Given the description of an element on the screen output the (x, y) to click on. 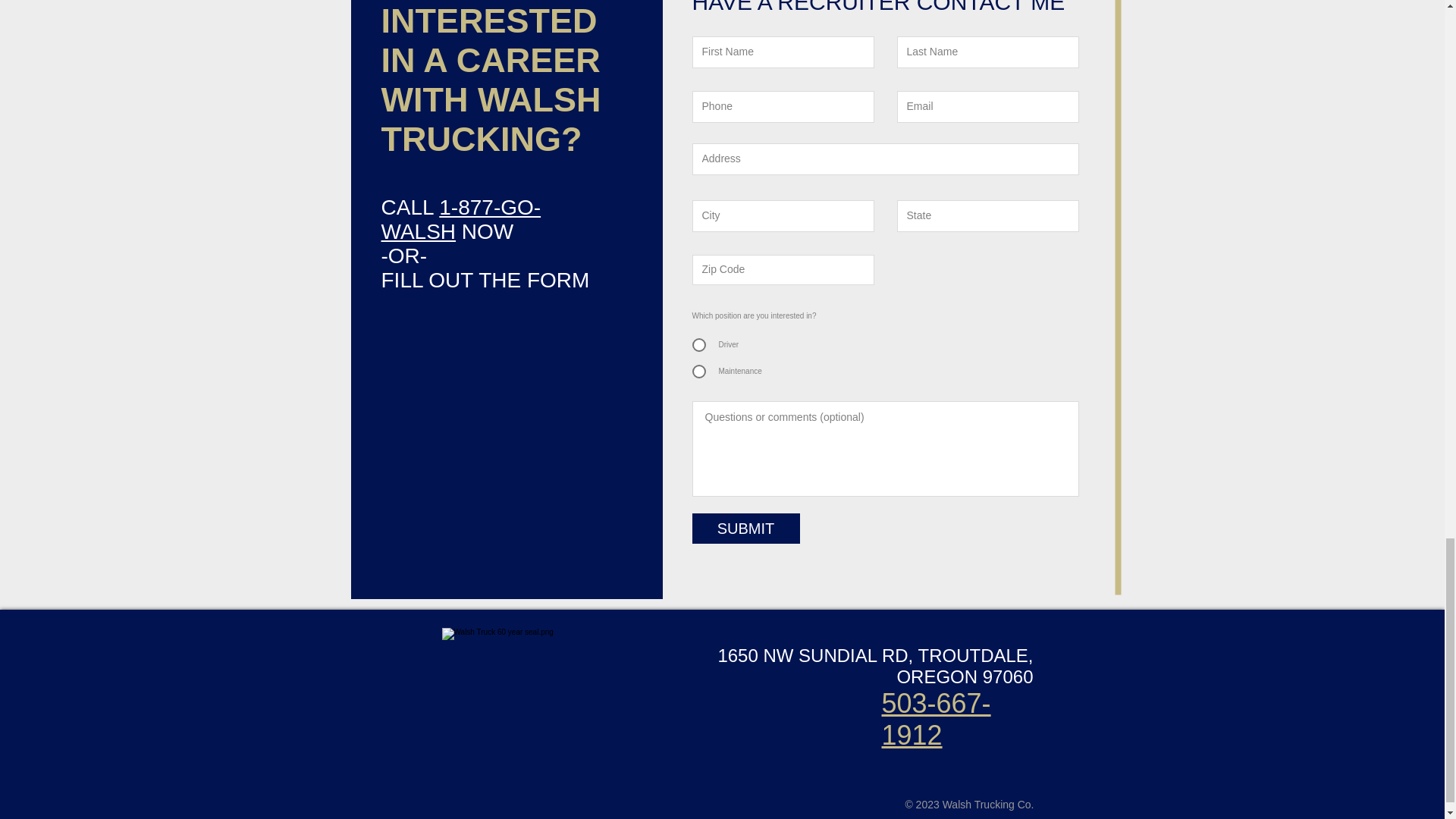
1-877-GO-WALSH (460, 219)
1650 NW SUNDIAL RD, TROUTDALE, OREGON 97060 (874, 666)
SUBMIT (745, 528)
503-667-1912 (935, 719)
